Given the description of an element on the screen output the (x, y) to click on. 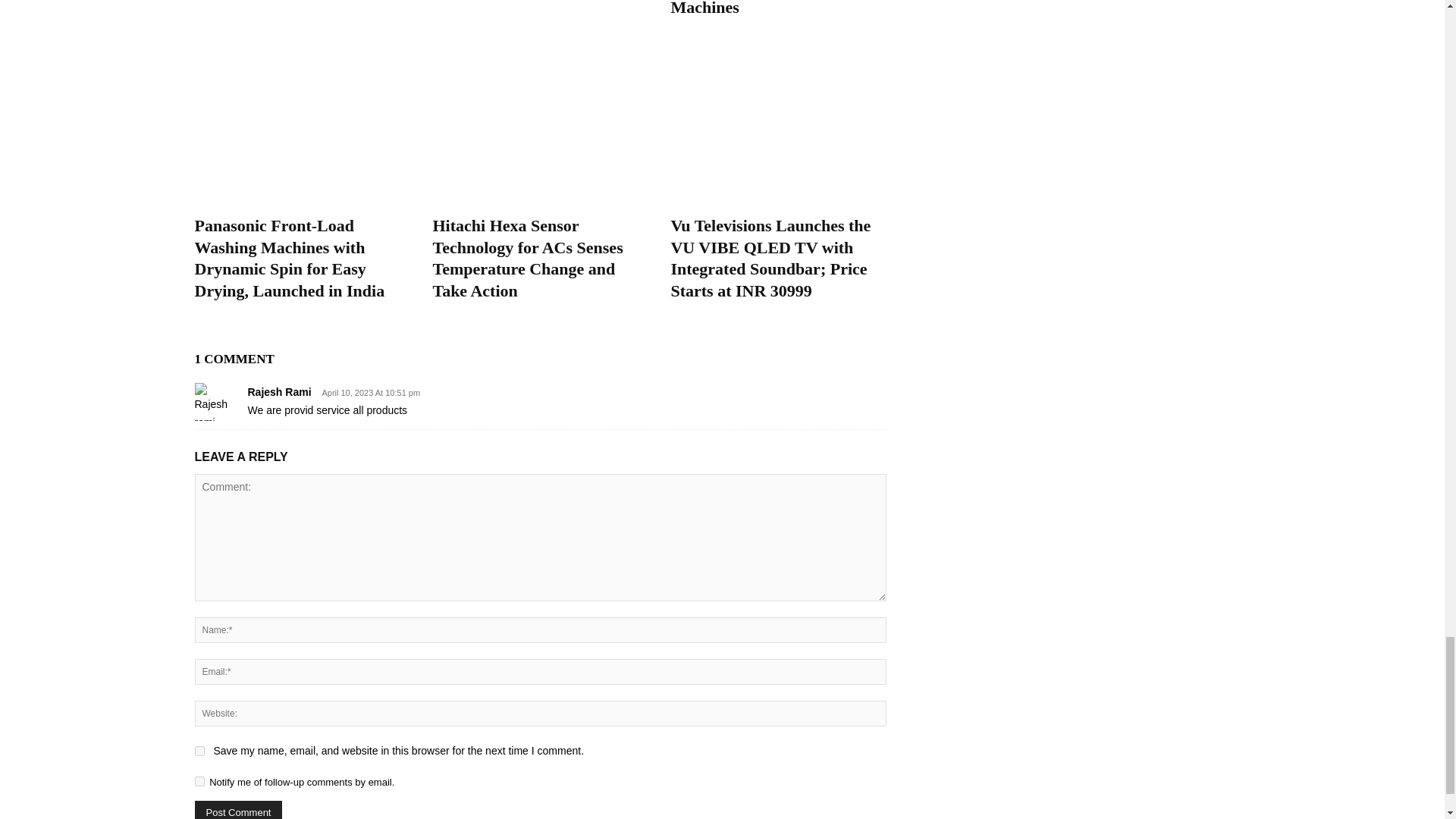
Post Comment (237, 809)
yes (198, 750)
subscribe (198, 781)
